Given the description of an element on the screen output the (x, y) to click on. 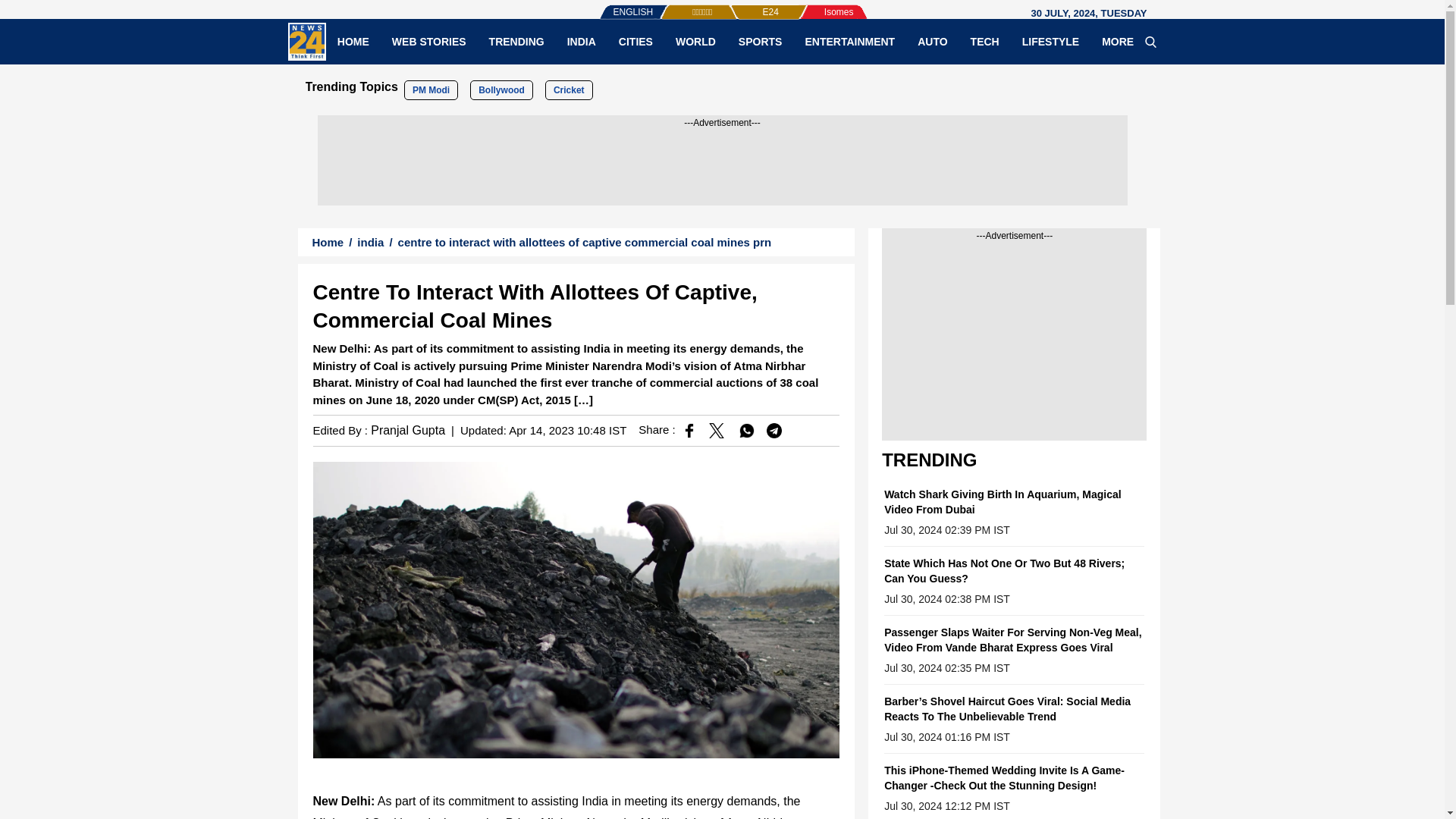
WEB STORIES (428, 41)
TECH (984, 41)
ENTERTAINMENT (849, 41)
WORLD (694, 41)
E24 (744, 4)
TRENDING (516, 41)
ENGLISH (601, 4)
CITIES (635, 41)
AUTO (931, 41)
Isomes (814, 4)
SPORTS (759, 41)
HOME (353, 41)
LIFESTYLE (1050, 41)
INDIA (581, 41)
